Given the description of an element on the screen output the (x, y) to click on. 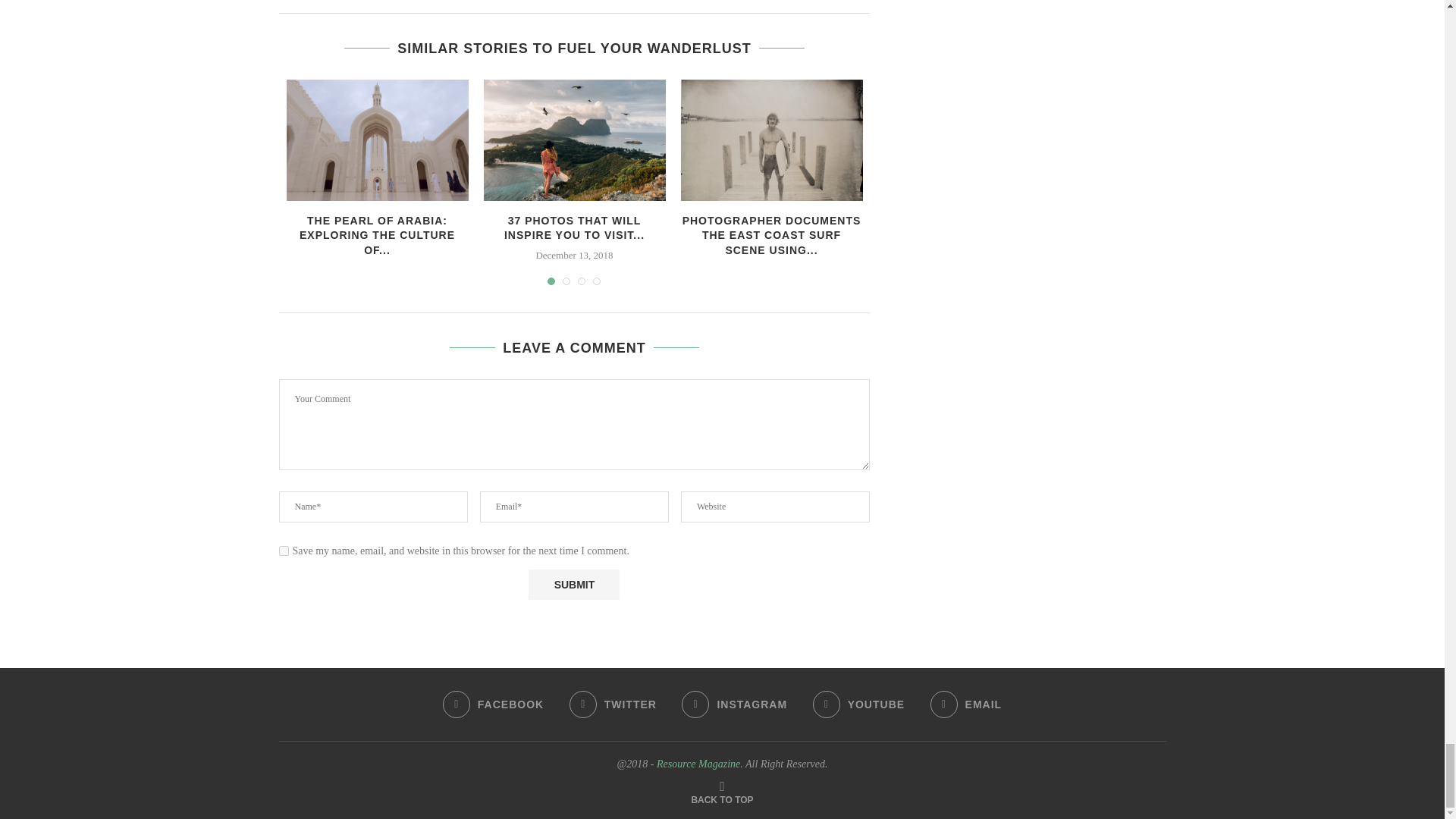
Submit (574, 584)
yes (283, 551)
